Given the description of an element on the screen output the (x, y) to click on. 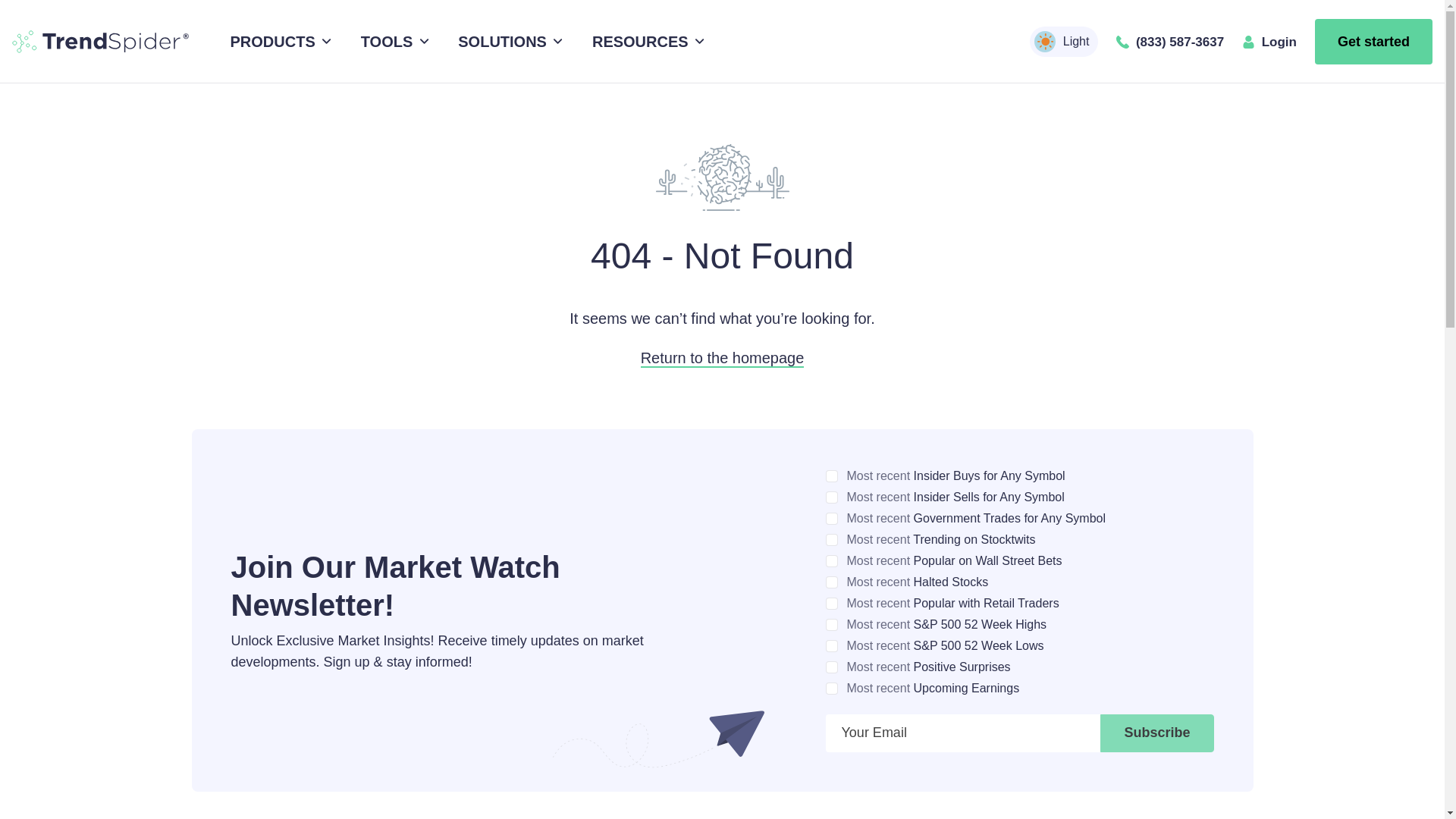
cf00d8d957 (831, 666)
Get started (1373, 41)
0b3ee44cd9 (831, 688)
SOLUTIONS (508, 41)
1b5bdac35d (831, 645)
b6dd00a374 (831, 561)
TOOLS (392, 41)
8b92b9941f (831, 476)
a747b9d98f (831, 624)
3a07d46d92 (831, 518)
